Given the description of an element on the screen output the (x, y) to click on. 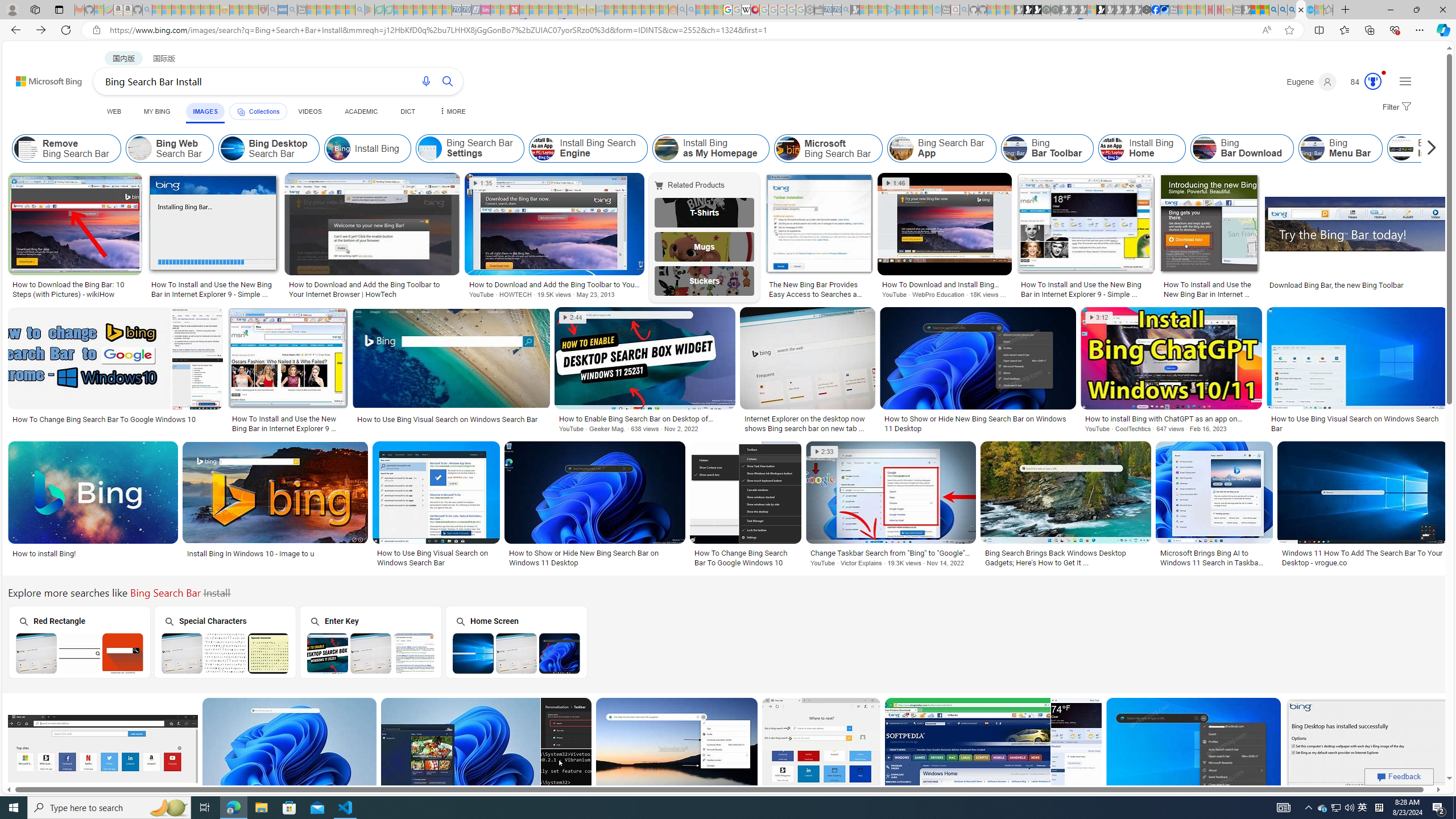
MY BING (156, 111)
Image result for Bing Search Bar Install (1366, 748)
Mugs (704, 246)
Red Rectangle Bing Search Bar (79, 652)
T-Shirts (704, 212)
